Given the description of an element on the screen output the (x, y) to click on. 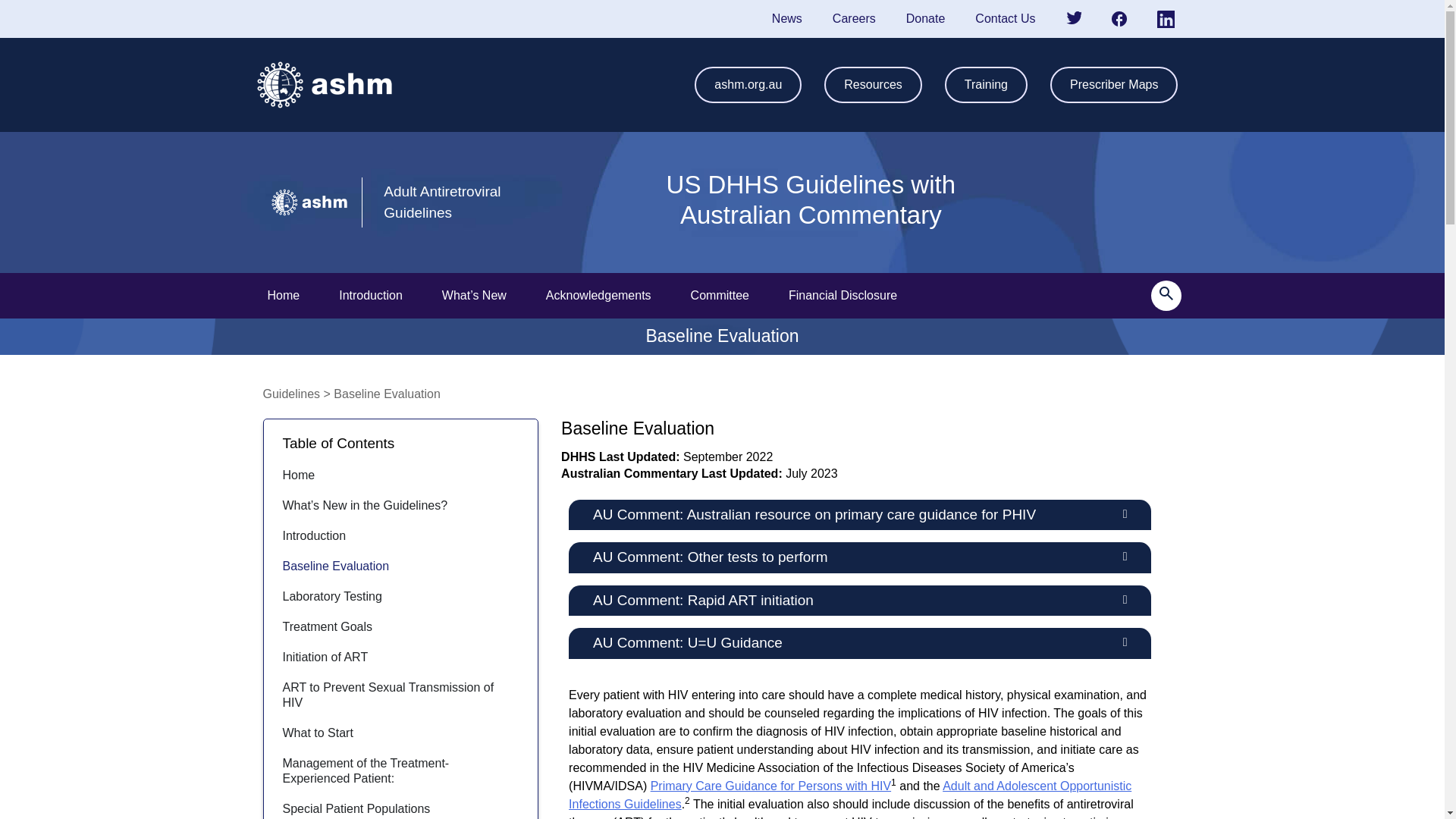
Committee (719, 295)
Acknowledgements (598, 295)
Donate (925, 18)
Contact Us (1004, 18)
Facebook Icon (1119, 18)
Twitter Icon (1073, 18)
Training (985, 84)
ashm.org.au (748, 84)
Introduction (370, 295)
Home (283, 295)
Financial Disclosure (842, 295)
Linked In Icon (1165, 18)
Careers (853, 18)
Resources (872, 84)
News (786, 18)
